Given the description of an element on the screen output the (x, y) to click on. 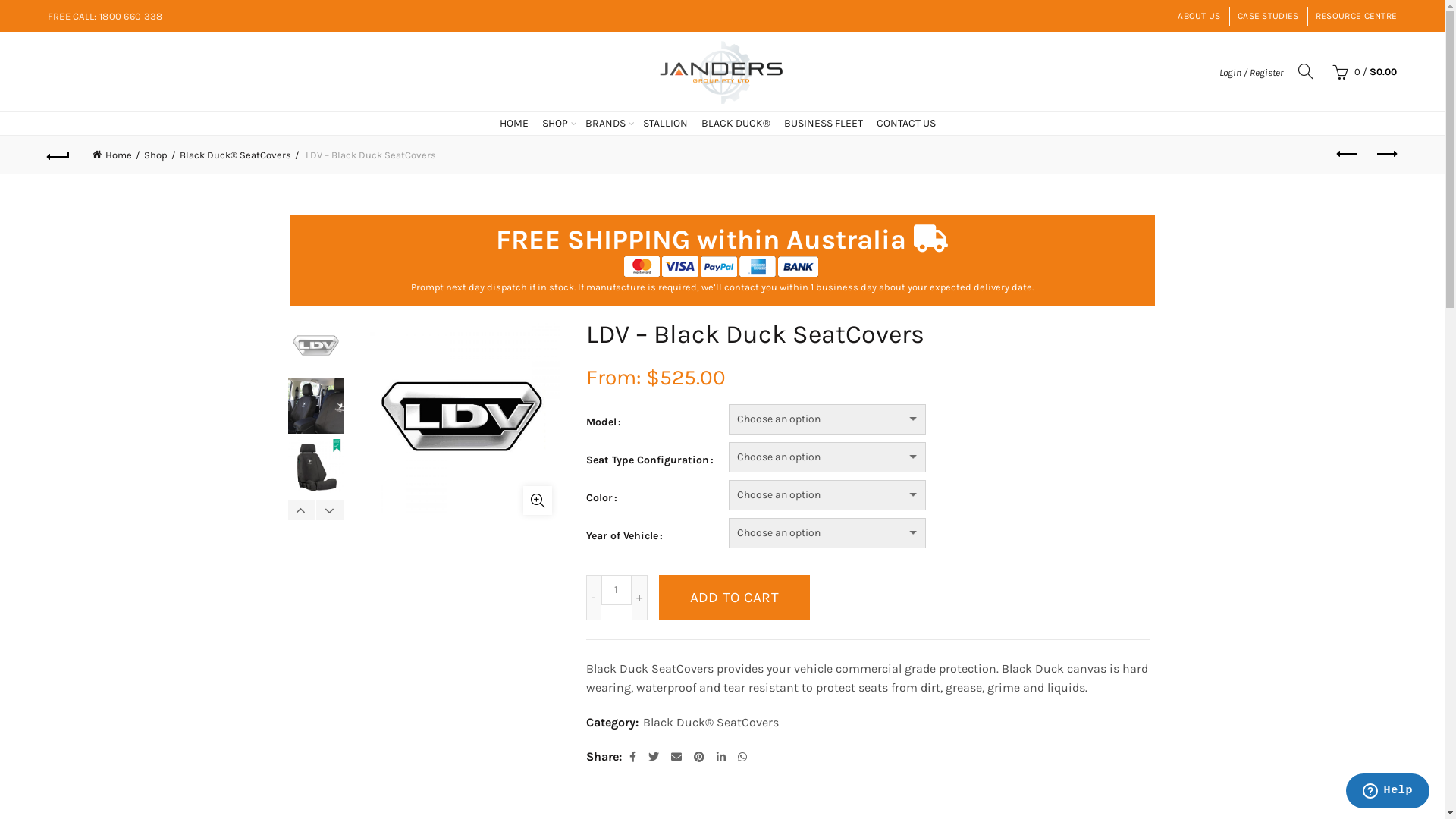
STALLION Element type: text (668, 123)
NEXT Element type: text (329, 510)
ldv-logo Element type: hover (461, 414)
Qty Element type: hover (615, 589)
Search Element type: text (1285, 117)
ADD TO CART Element type: text (733, 597)
PREVIOUS Element type: text (302, 510)
FREE SHIPPING within Australia Element type: text (700, 239)
BRANDS Element type: text (609, 123)
Black Canvas - left Element type: hover (316, 469)
Click to enlarge Element type: text (537, 500)
0 / $0.00 Element type: text (1362, 71)
Reseller - 4Elements in 4x4 Element type: hover (316, 408)
HOME Element type: text (517, 123)
Back Element type: text (59, 154)
CONTACT US Element type: text (909, 123)
Previous product Element type: text (1347, 154)
Opens a widget where you can chat to one of our agents Element type: hover (1387, 792)
RESOURCE CENTRE Element type: text (1356, 15)
BUSINESS FLEET Element type: text (826, 123)
Shop Element type: text (159, 154)
Next product Element type: text (1385, 154)
Login / Register Element type: text (1251, 71)
SHOP Element type: text (558, 123)
Home Element type: text (116, 154)
CASE STUDIES Element type: text (1268, 15)
ABOUT US Element type: text (1198, 15)
ldv-logo Element type: hover (316, 347)
